Given the description of an element on the screen output the (x, y) to click on. 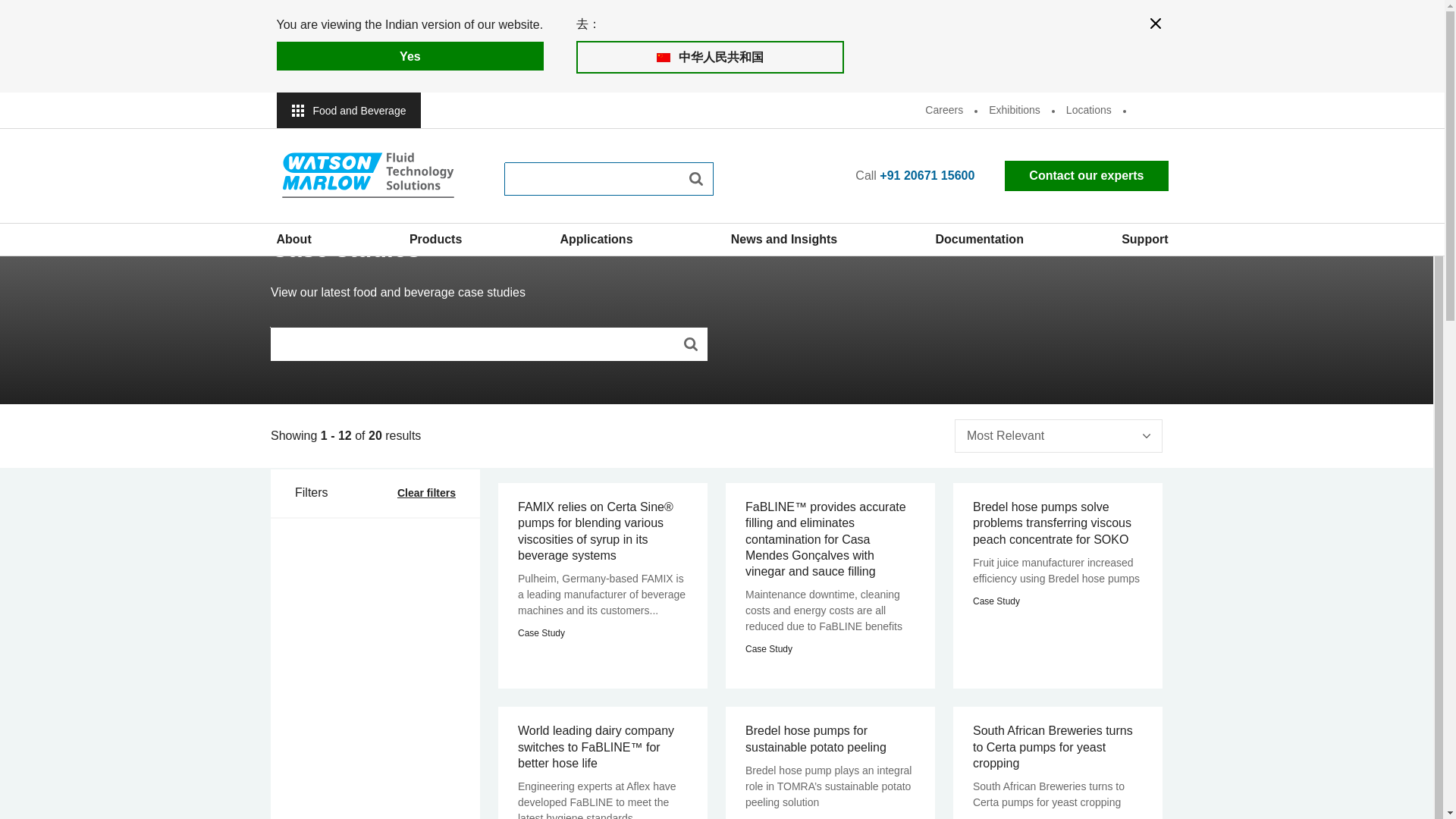
Locations (1088, 109)
Careers (943, 109)
Yes (409, 55)
Food and Beverage (348, 109)
Search site (696, 178)
Exhibitions (1013, 109)
Search site (690, 344)
Search site (690, 344)
Search site (696, 178)
